Given the description of an element on the screen output the (x, y) to click on. 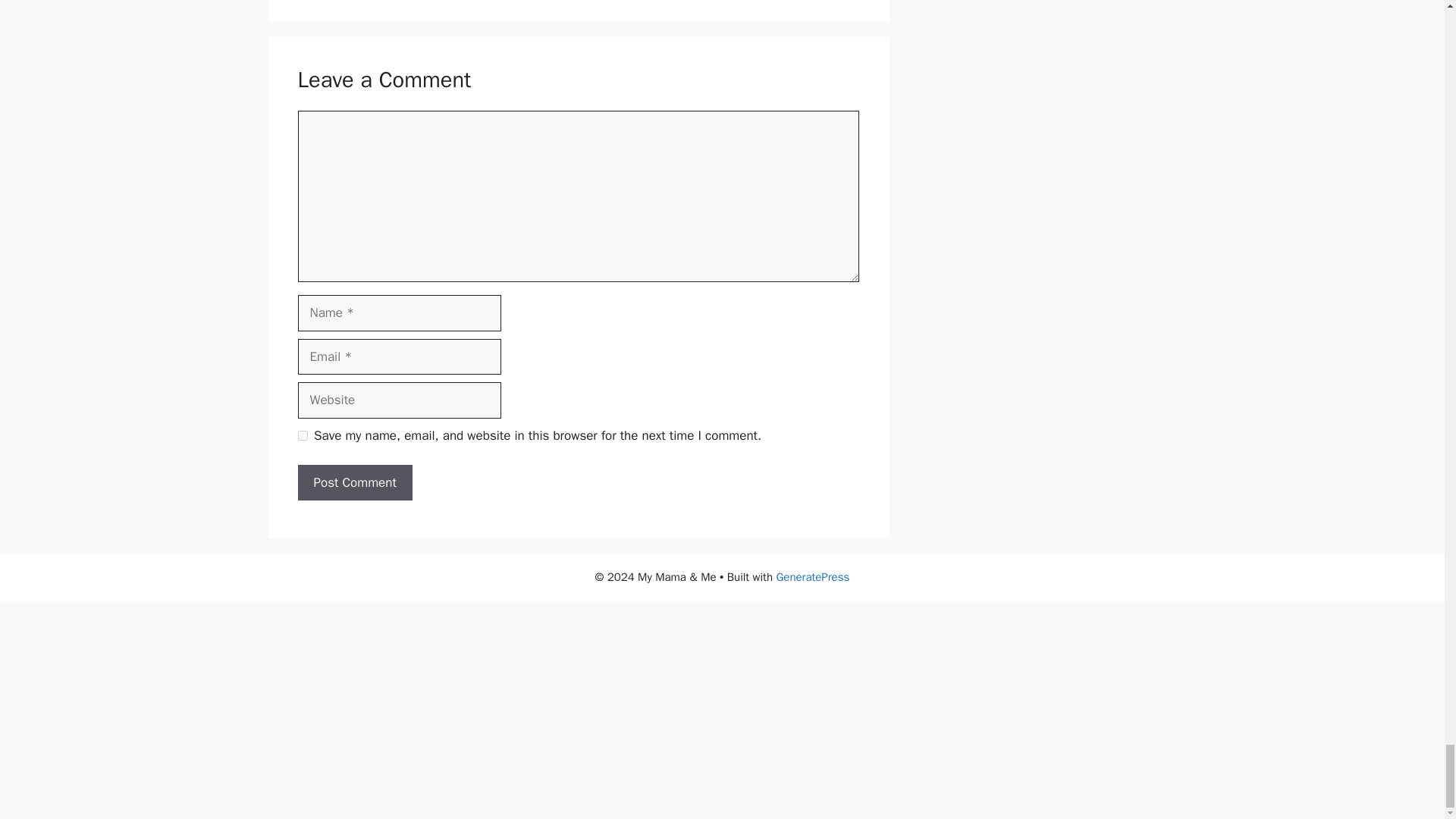
Post Comment (354, 483)
yes (302, 435)
Post Comment (354, 483)
